Given the description of an element on the screen output the (x, y) to click on. 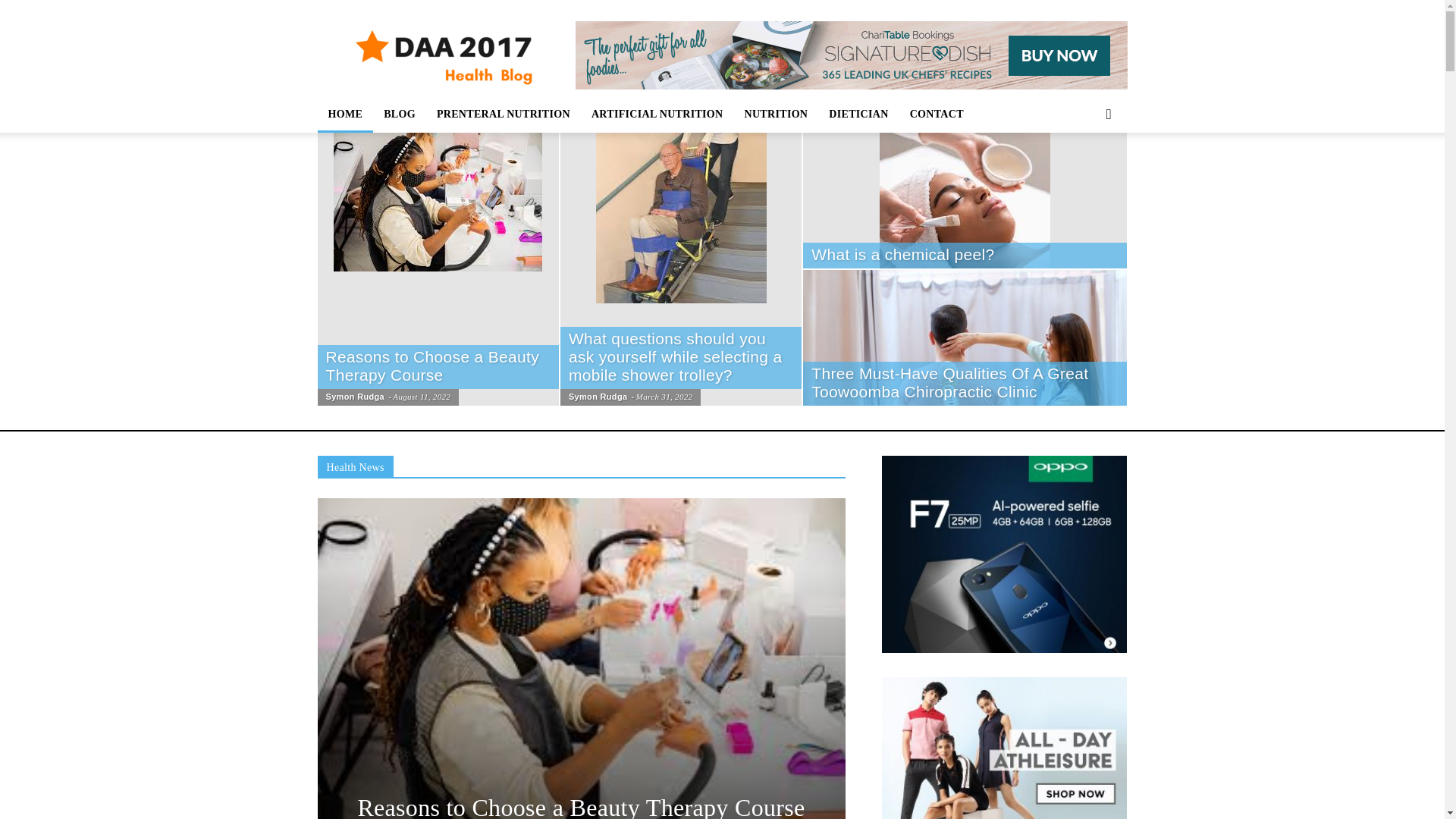
Reasons to Choose a Beauty Therapy Course (580, 806)
CONTACT (936, 114)
Symon Rudga (598, 396)
Symon Rudga (355, 396)
Reasons to Choose a Beauty Therapy Course (433, 366)
PRENTERAL NUTRITION (503, 114)
BLOG (399, 114)
HOME (344, 114)
